Given the description of an element on the screen output the (x, y) to click on. 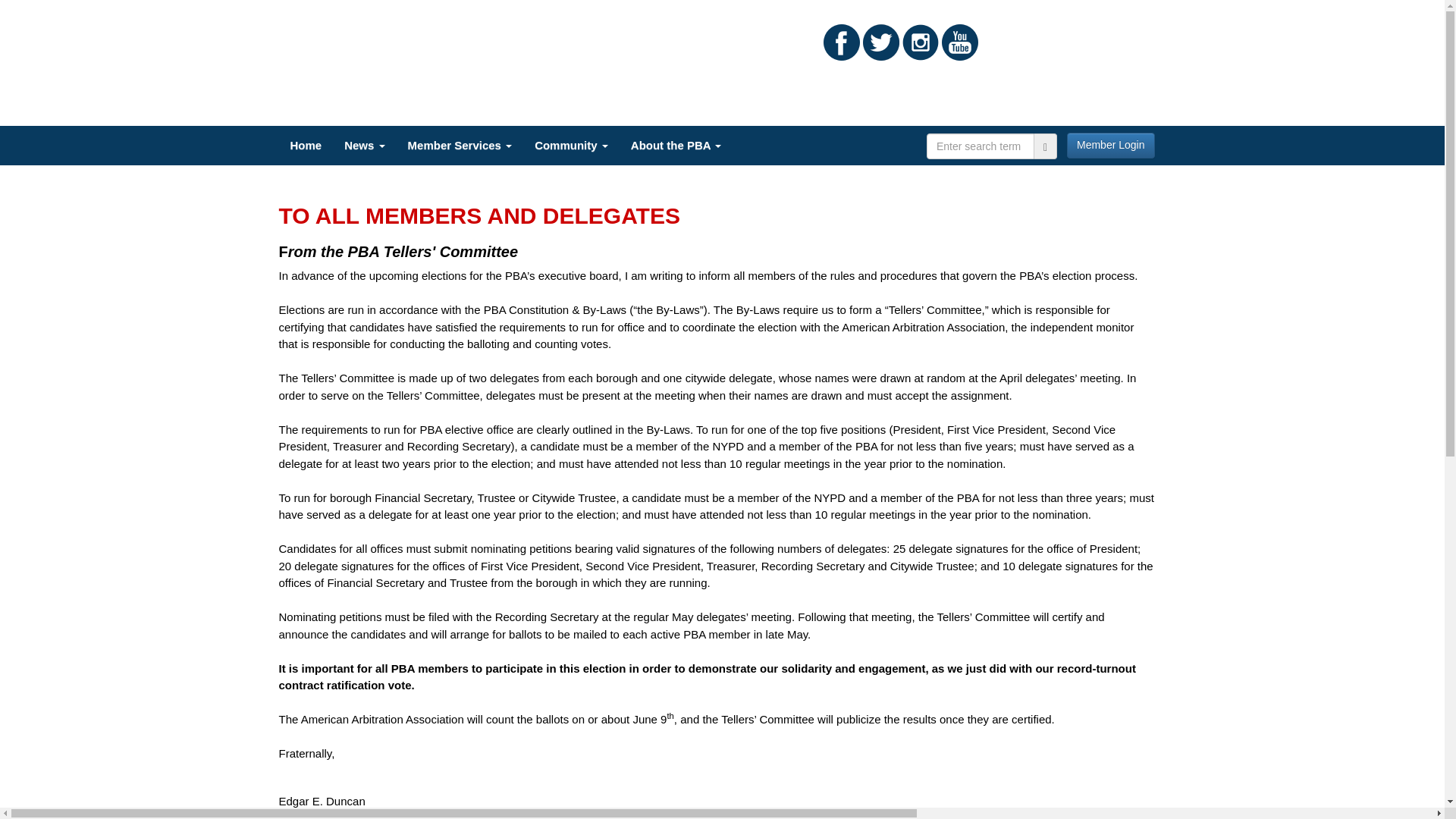
Member Services (460, 145)
Home (306, 145)
News (364, 145)
